Given the description of an element on the screen output the (x, y) to click on. 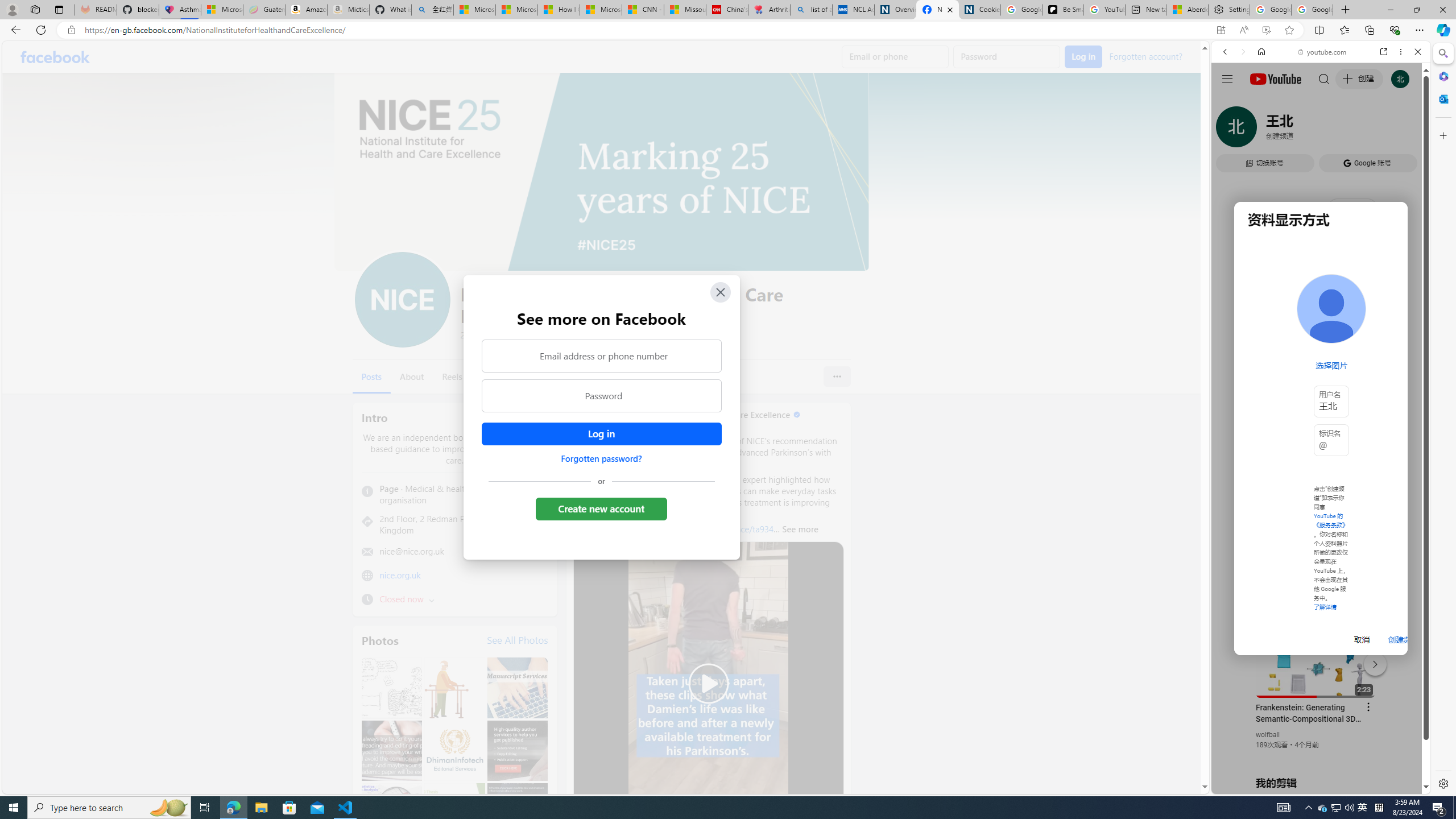
Search videos from youtube.com (1299, 373)
Accessible login button (601, 433)
